Given the description of an element on the screen output the (x, y) to click on. 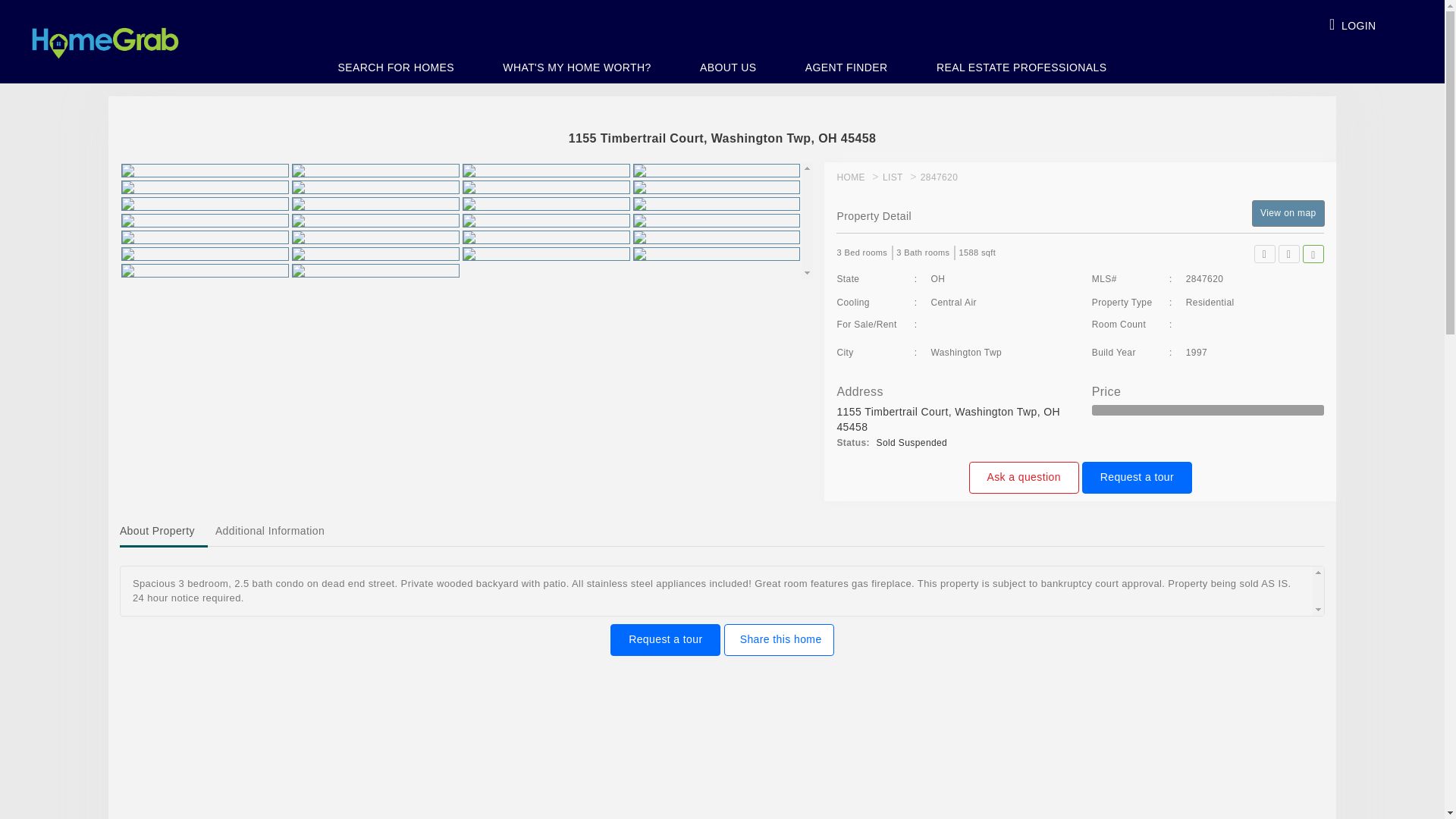
About Property (162, 531)
Login (1352, 20)
Agent Finder (847, 68)
www.homegrab.com logo (105, 42)
Ignore this home (1313, 253)
REAL ESTATE PROFESSIONALS (1021, 68)
LOGIN (1352, 20)
Home (849, 177)
SEARCH FOR HOMES (396, 68)
www.homegrab.com logo (105, 32)
